Given the description of an element on the screen output the (x, y) to click on. 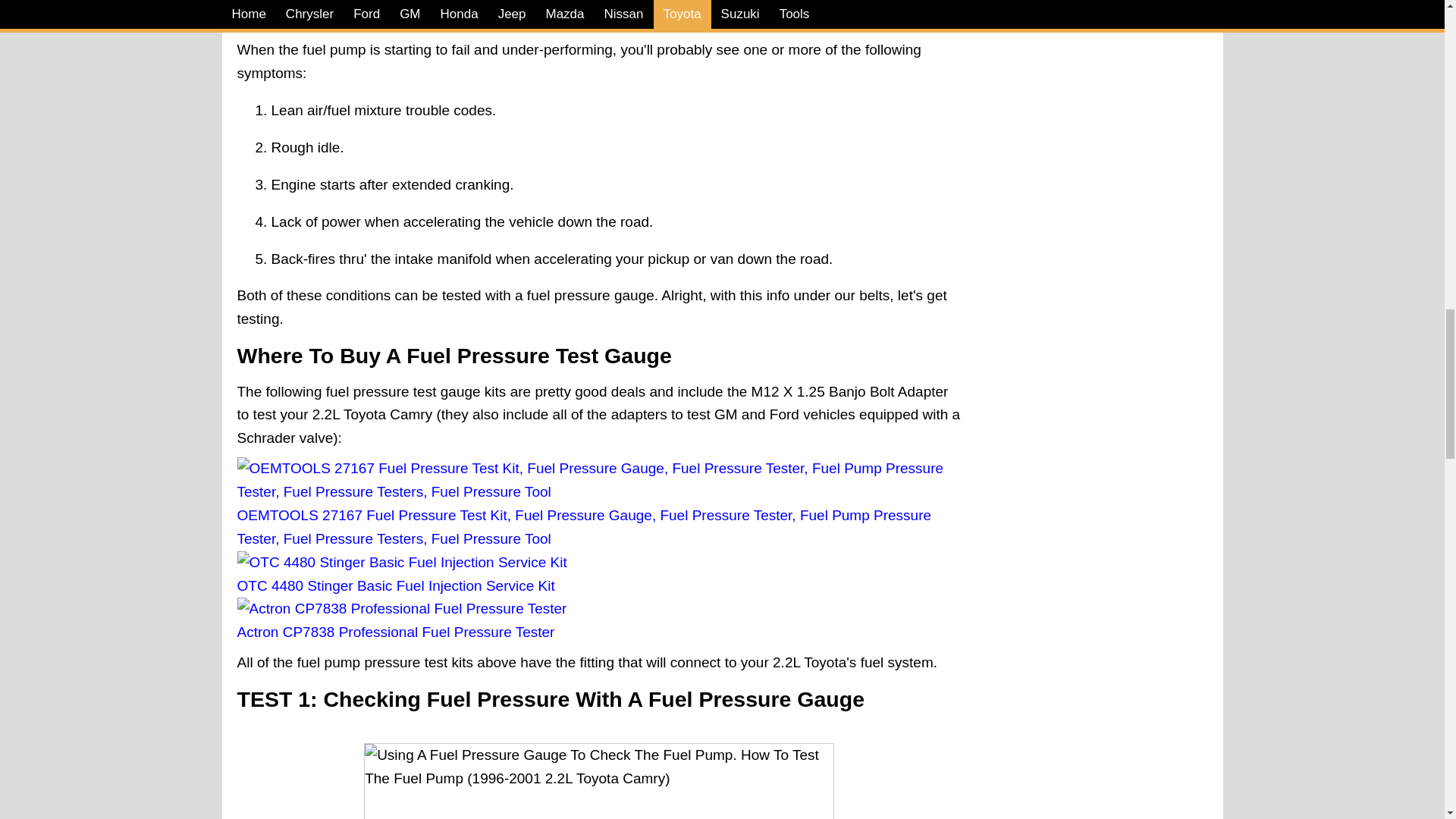
Actron CP7838 Professional Fuel Pressure Tester (400, 608)
OTC 4480 Stinger Basic Fuel Injection Service Kit (394, 585)
Actron CP7838 Professional Fuel Pressure Tester (394, 631)
OTC 4480 Stinger Basic Fuel Injection Service Kit (400, 562)
